Given the description of an element on the screen output the (x, y) to click on. 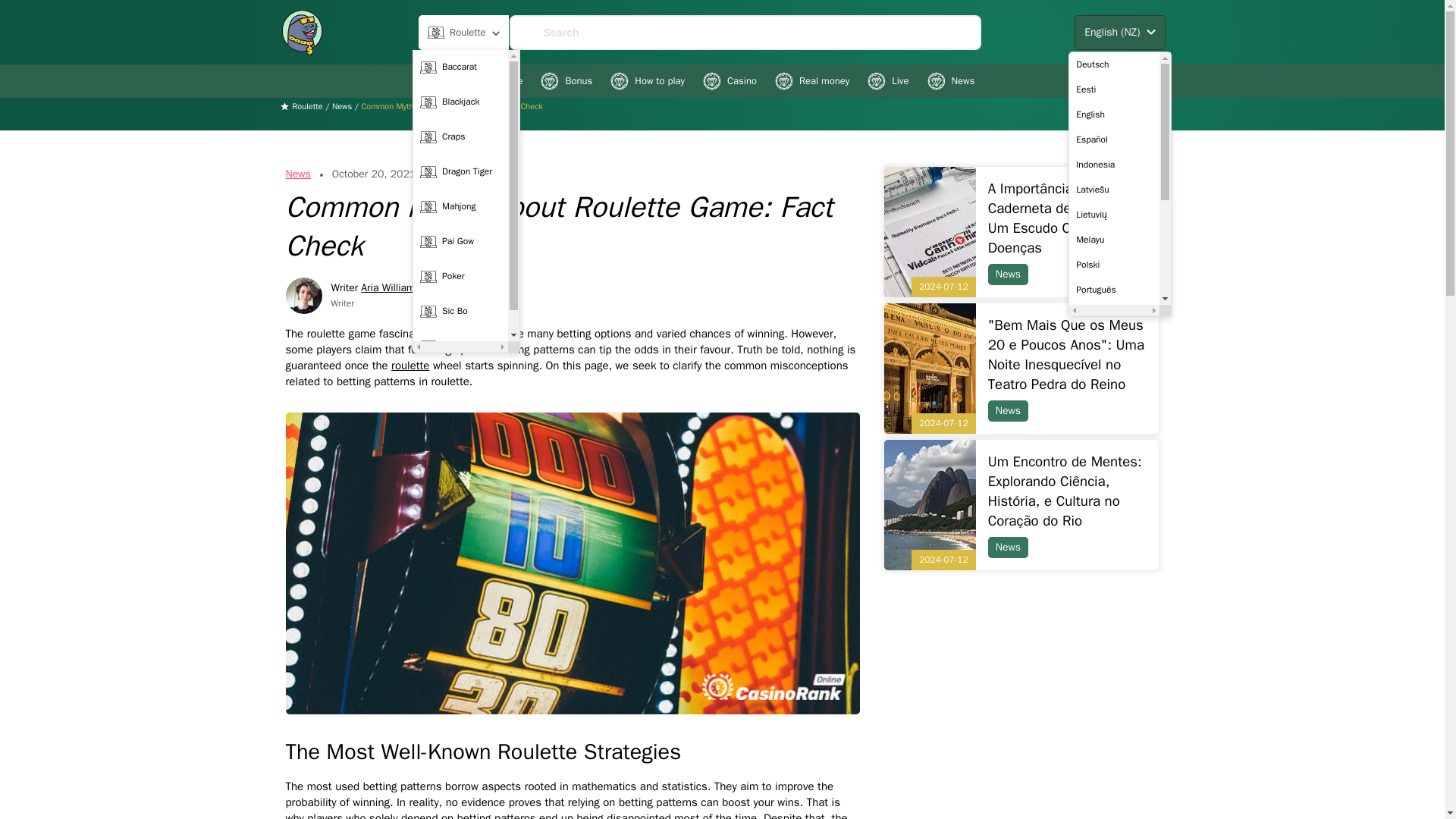
How to play (647, 80)
Suomi (1113, 314)
Mobile (496, 80)
Live (887, 80)
Poker (460, 276)
Polski (1113, 263)
Real money (811, 80)
News (950, 80)
Dragon Tiger (460, 172)
Eesti (1113, 89)
Pai Gow (460, 241)
Mahjong (460, 206)
Bonus (566, 80)
Melayu (1113, 239)
Svenska (1113, 339)
